Given the description of an element on the screen output the (x, y) to click on. 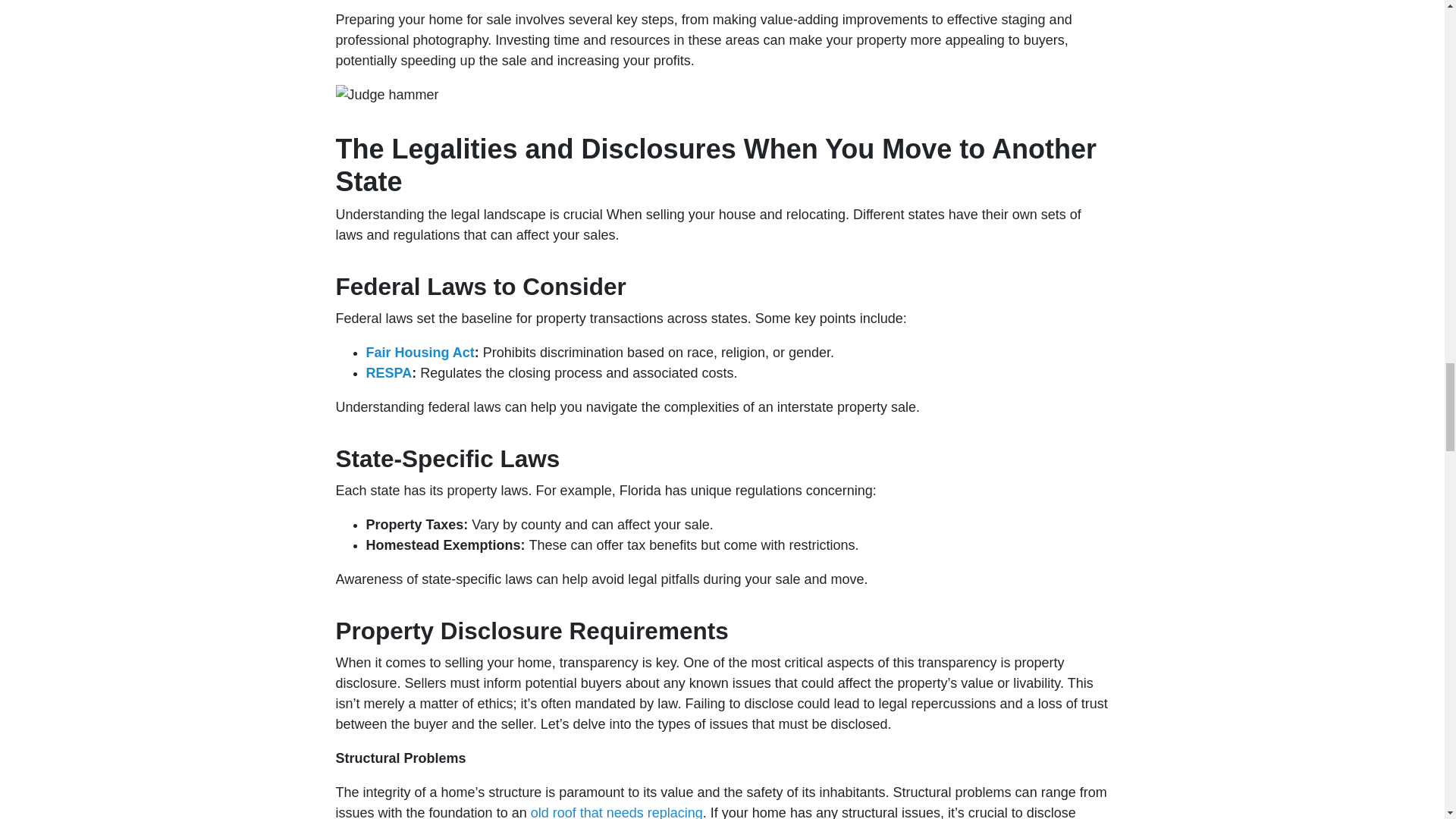
old roof that needs replacing (617, 812)
RESPA (388, 372)
Fair Housing Act (419, 352)
